Given the description of an element on the screen output the (x, y) to click on. 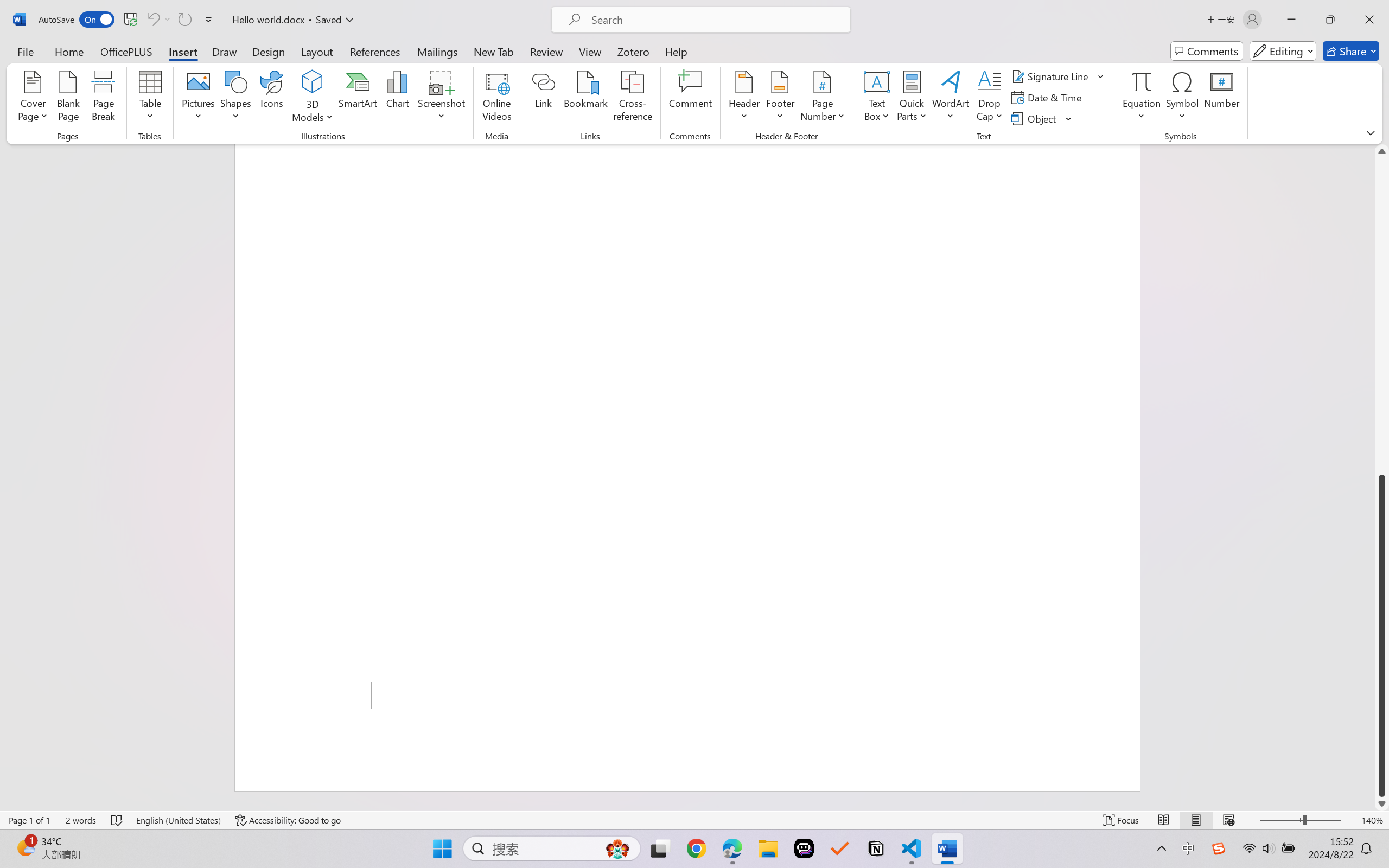
Help (675, 51)
More Options (1141, 112)
Focus  (1121, 819)
Ribbon Display Options (1370, 132)
View (589, 51)
Pictures (198, 97)
Zoom (1300, 819)
Can't Undo (158, 19)
AutoSave (76, 19)
Page Number (822, 97)
SmartArt... (358, 97)
